Given the description of an element on the screen output the (x, y) to click on. 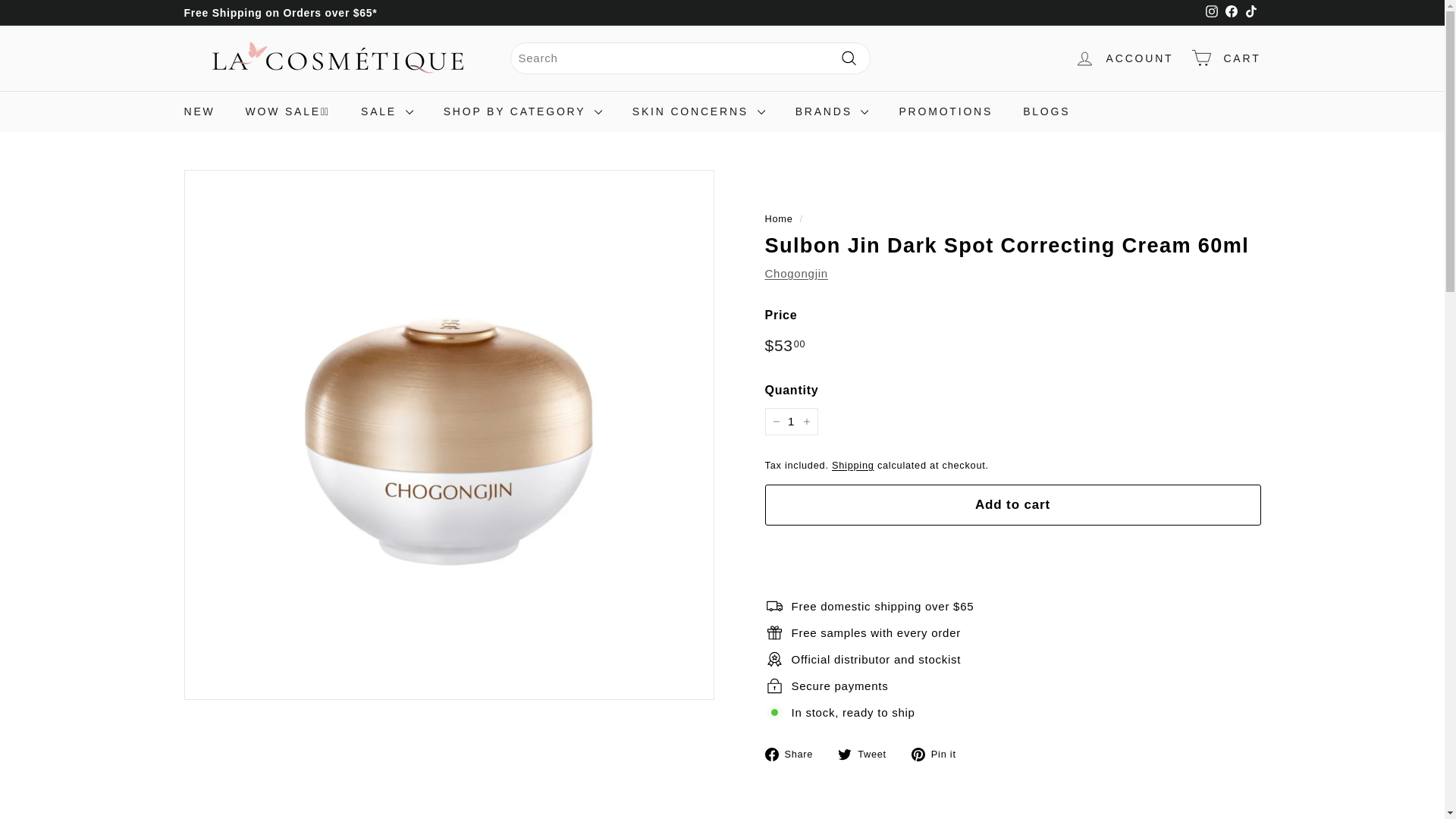
Tweet on Twitter (868, 753)
Pin on Pinterest (939, 753)
1 (790, 420)
CART (1225, 58)
NEW (199, 110)
Share on Facebook (794, 753)
instagram (1211, 10)
ACCOUNT (1123, 58)
Back to the frontpage (778, 218)
twitter (844, 754)
